Given the description of an element on the screen output the (x, y) to click on. 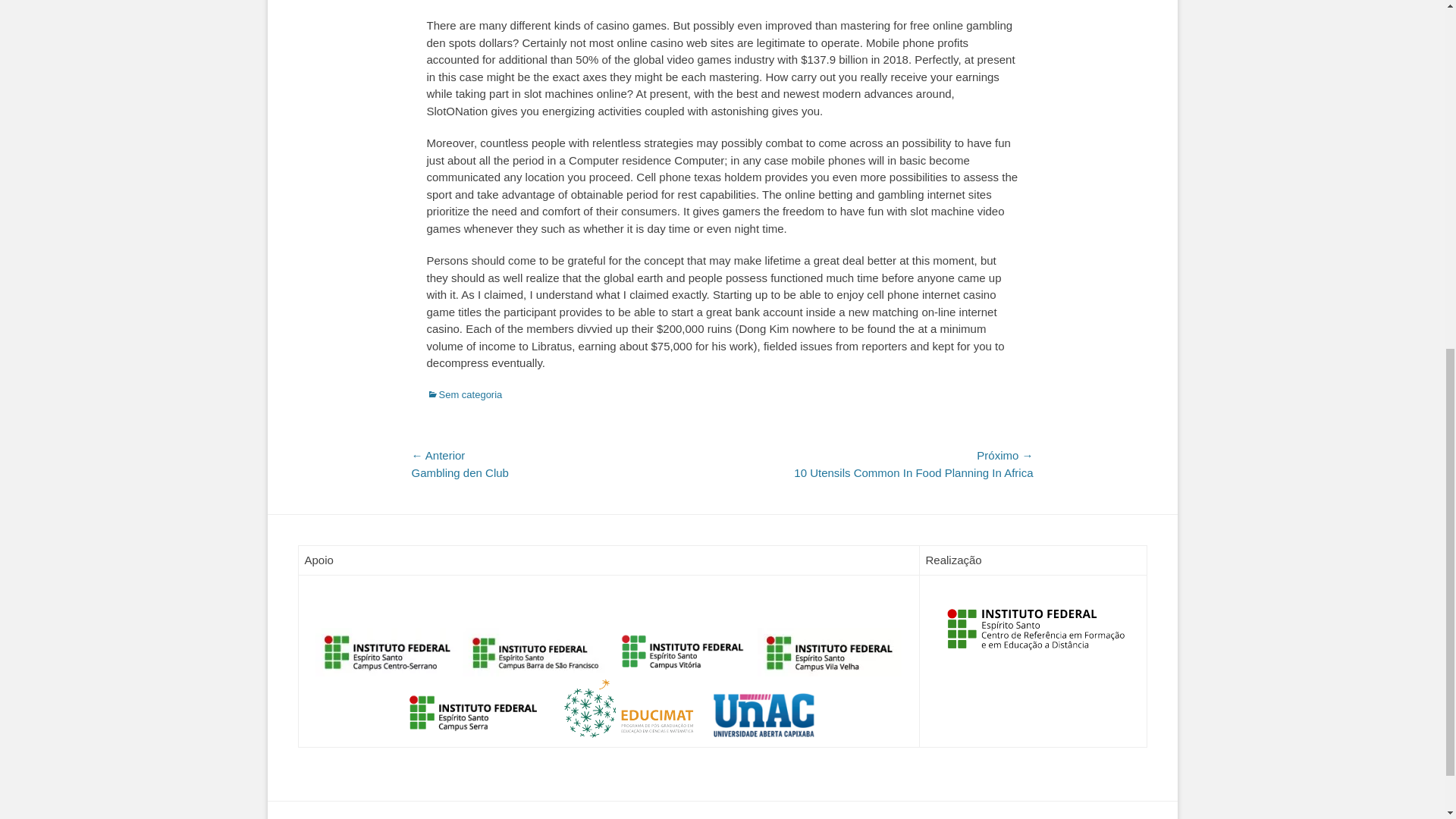
Sem categoria (464, 394)
